Given the description of an element on the screen output the (x, y) to click on. 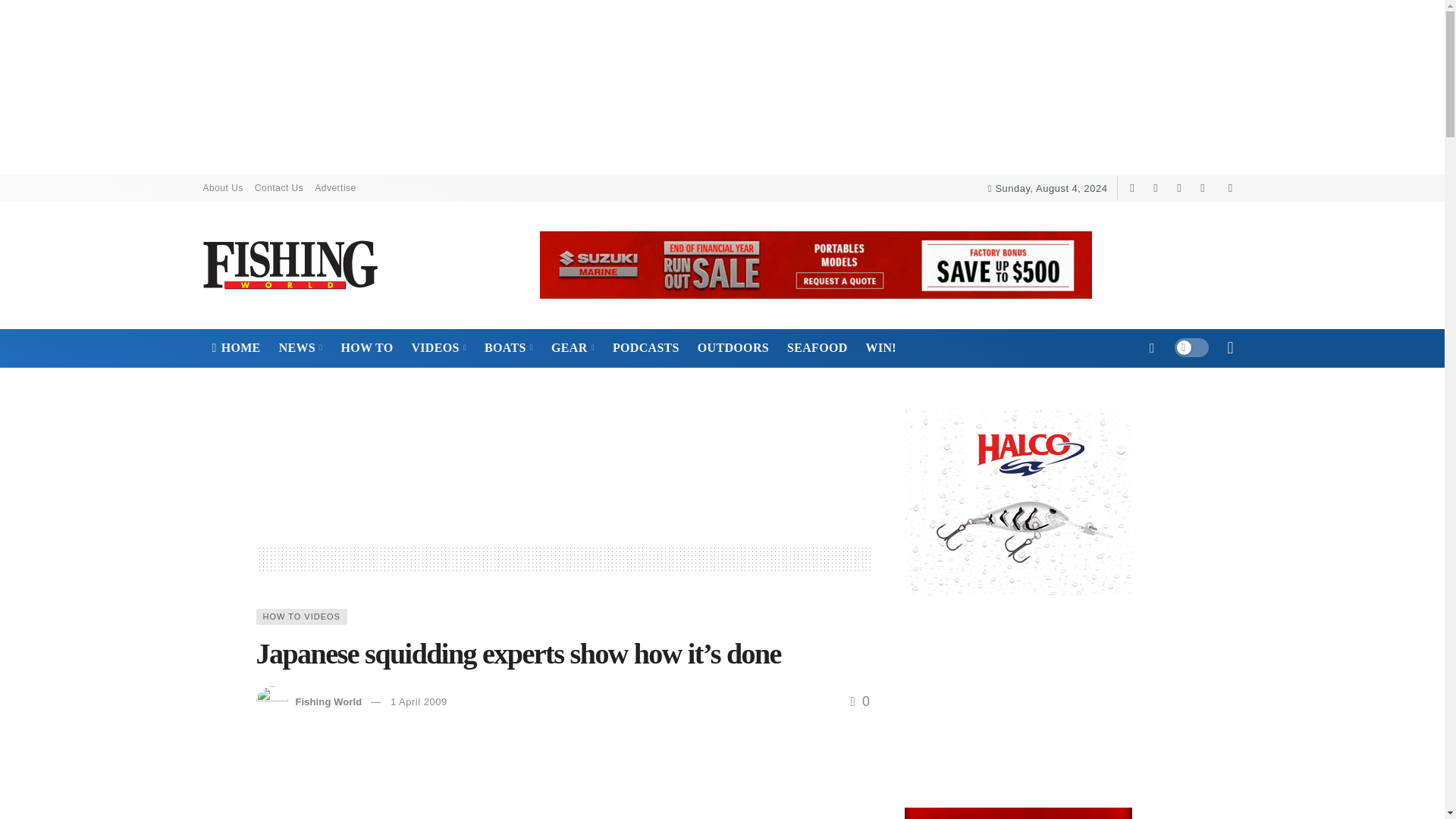
OUTDOORS (732, 347)
VIDEOS (438, 347)
SEAFOOD (817, 347)
Advertise (335, 188)
HOW TO (366, 347)
Contact Us (284, 188)
HOME (236, 347)
BOATS (508, 347)
WIN! (881, 347)
PODCASTS (646, 347)
GEAR (572, 347)
About Us (228, 188)
NEWS (300, 347)
